Given the description of an element on the screen output the (x, y) to click on. 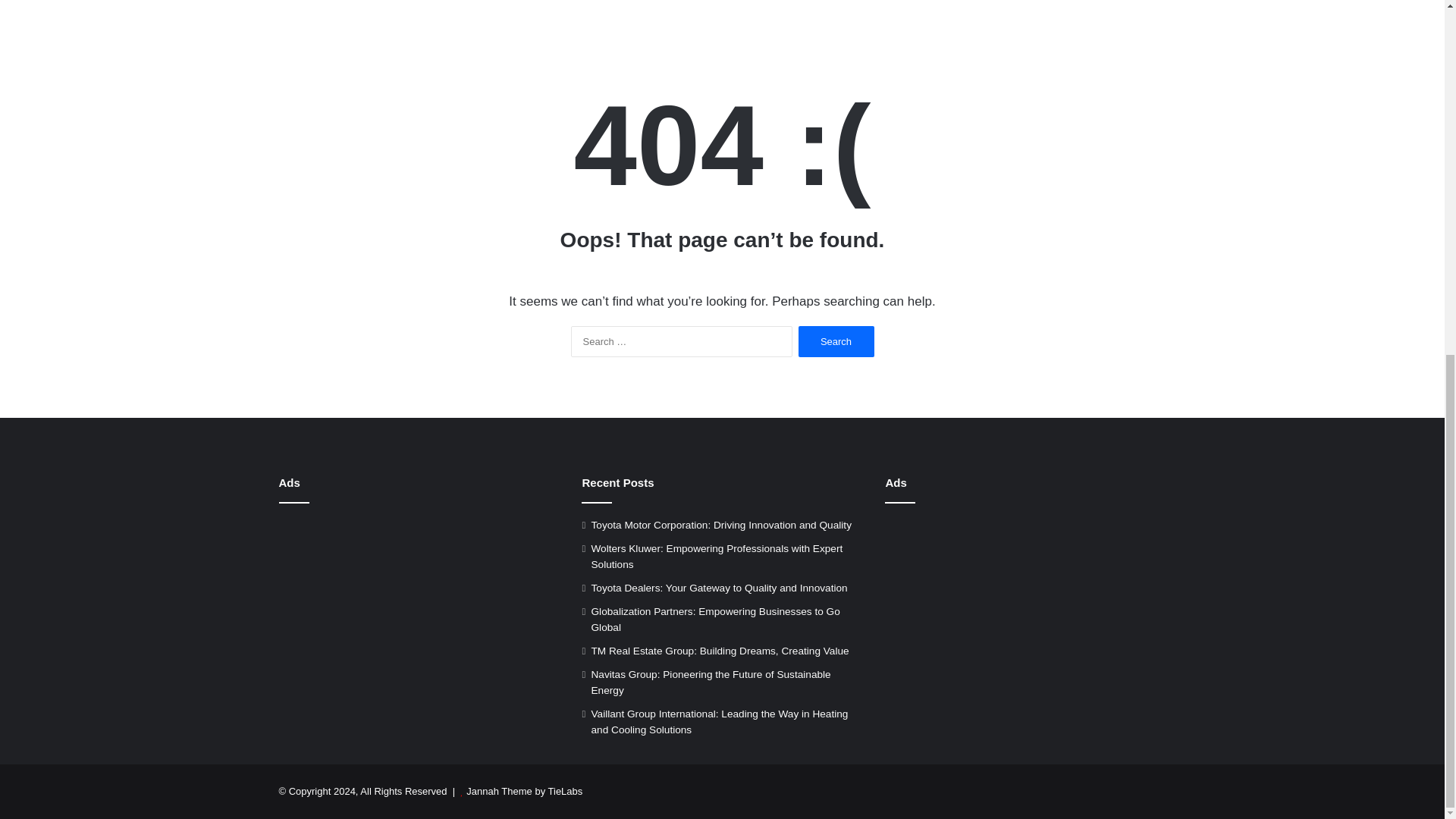
Navitas Group: Pioneering the Future of Sustainable Energy (710, 682)
Search (835, 341)
Search (835, 341)
Toyota Dealers: Your Gateway to Quality and Innovation (719, 587)
Globalization Partners: Empowering Businesses to Go Global (715, 619)
Jannah Theme by TieLabs (523, 790)
Search (835, 341)
Toyota Motor Corporation: Driving Innovation and Quality (720, 524)
TM Real Estate Group: Building Dreams, Creating Value (719, 650)
Back to top button (1419, 260)
